Given the description of an element on the screen output the (x, y) to click on. 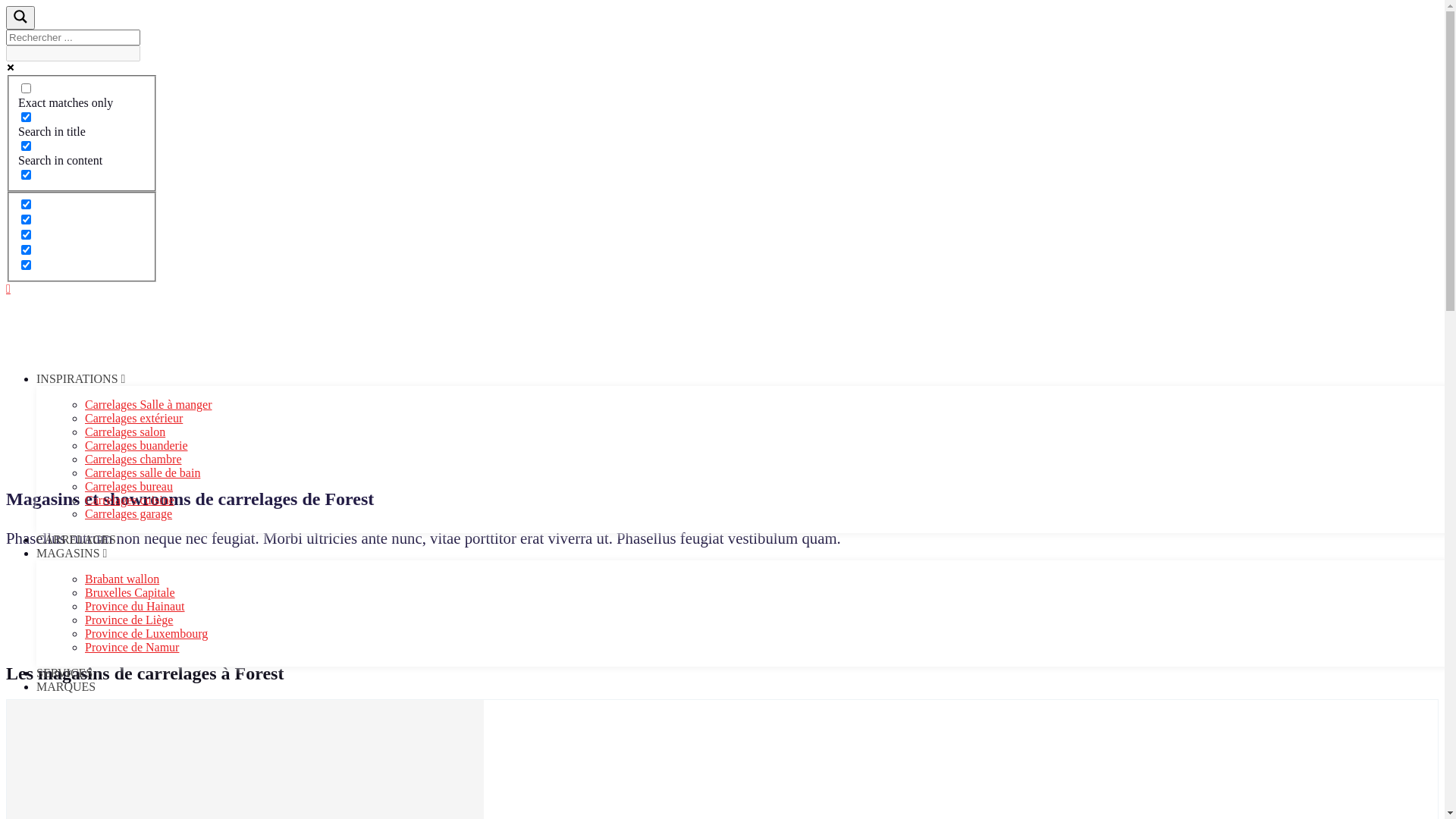
Province de Namur Element type: text (131, 646)
Start search Element type: text (146, 47)
SERVICES Element type: text (64, 672)
Carrelages buanderie Element type: text (135, 445)
Bruxelles Capitale Element type: text (129, 592)
Carrelages bureau Element type: text (128, 486)
Carrelages chambre Element type: text (132, 458)
MARQUES Element type: text (65, 686)
INSPIRATIONS Element type: text (80, 378)
Brabant wallon Element type: text (121, 578)
Mon panier Element type: hover (8, 288)
Carrelages salon Element type: text (124, 431)
CARRELAGES Element type: text (76, 539)
Carrelages garage Element type: text (128, 513)
Province de Luxembourg Element type: text (145, 633)
MAGASINS Element type: text (71, 552)
Carrelages cuisine Element type: text (129, 499)
Province du Hainaut Element type: text (134, 605)
Carrelages salle de bain Element type: text (142, 472)
